Given the description of an element on the screen output the (x, y) to click on. 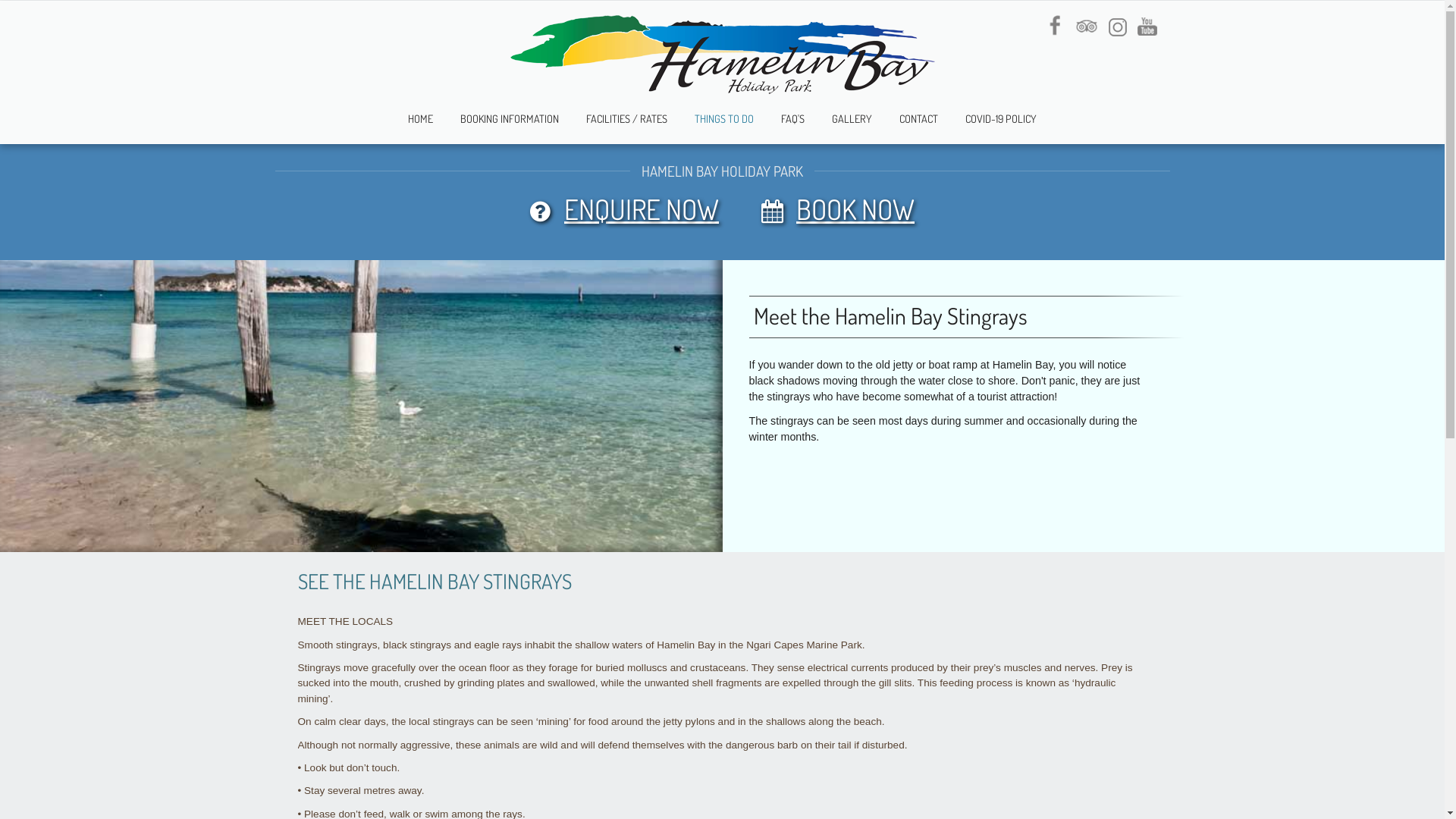
HOME Element type: text (420, 122)
THINGS TO DO Element type: text (723, 122)
GALLERY Element type: text (851, 122)
BOOK NOW Element type: text (855, 208)
CONTACT Element type: text (918, 122)
BOOKING INFORMATION Element type: text (509, 122)
FAQ'S Element type: text (792, 122)
ENQUIRE NOW Element type: text (641, 208)
FACILITIES / RATES Element type: text (626, 122)
COVID-19 POLICY Element type: text (1000, 122)
Hamelin Bay Sting Rays Element type: text (361, 400)
